Given the description of an element on the screen output the (x, y) to click on. 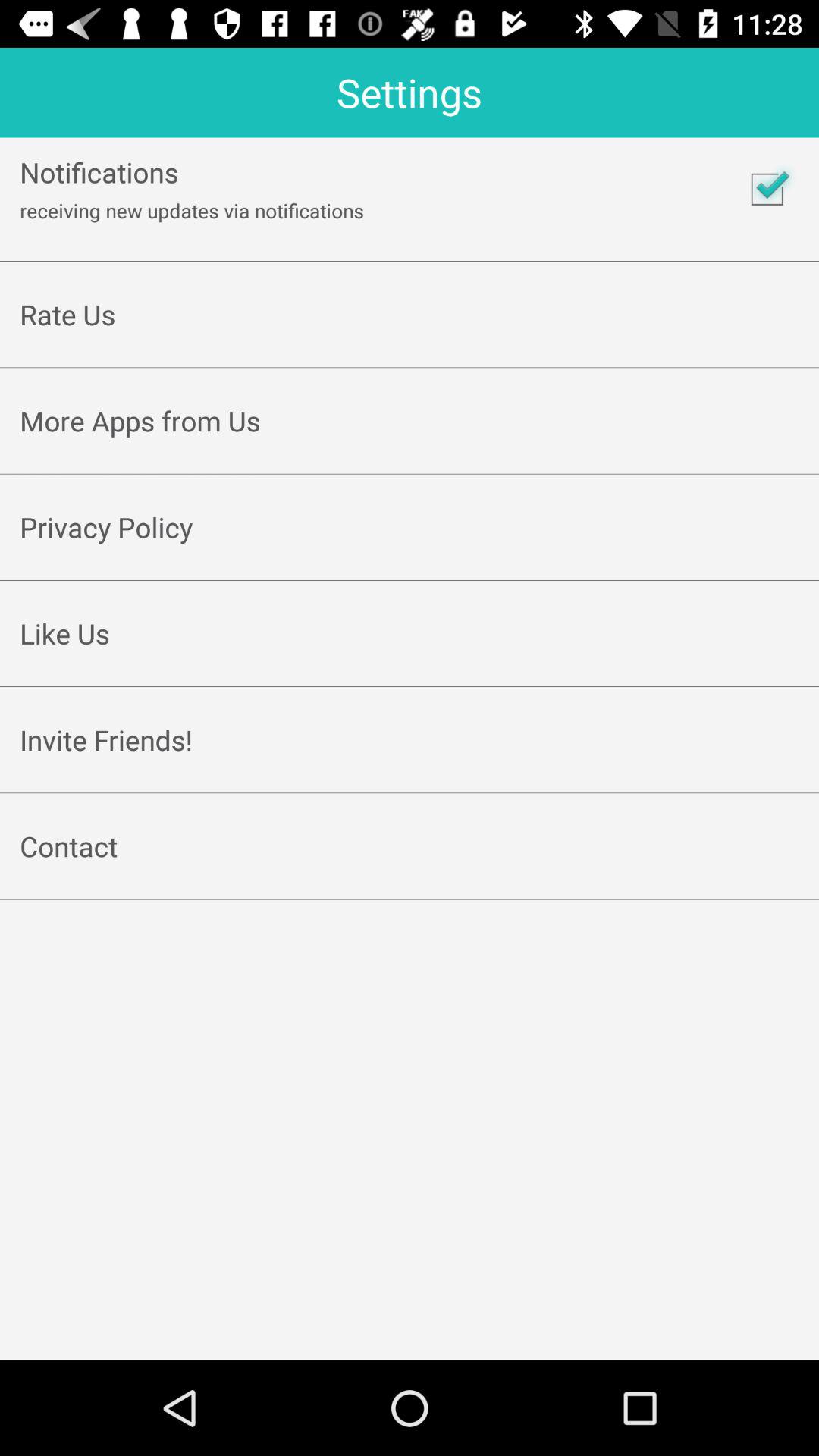
select item below the more apps from icon (409, 456)
